Given the description of an element on the screen output the (x, y) to click on. 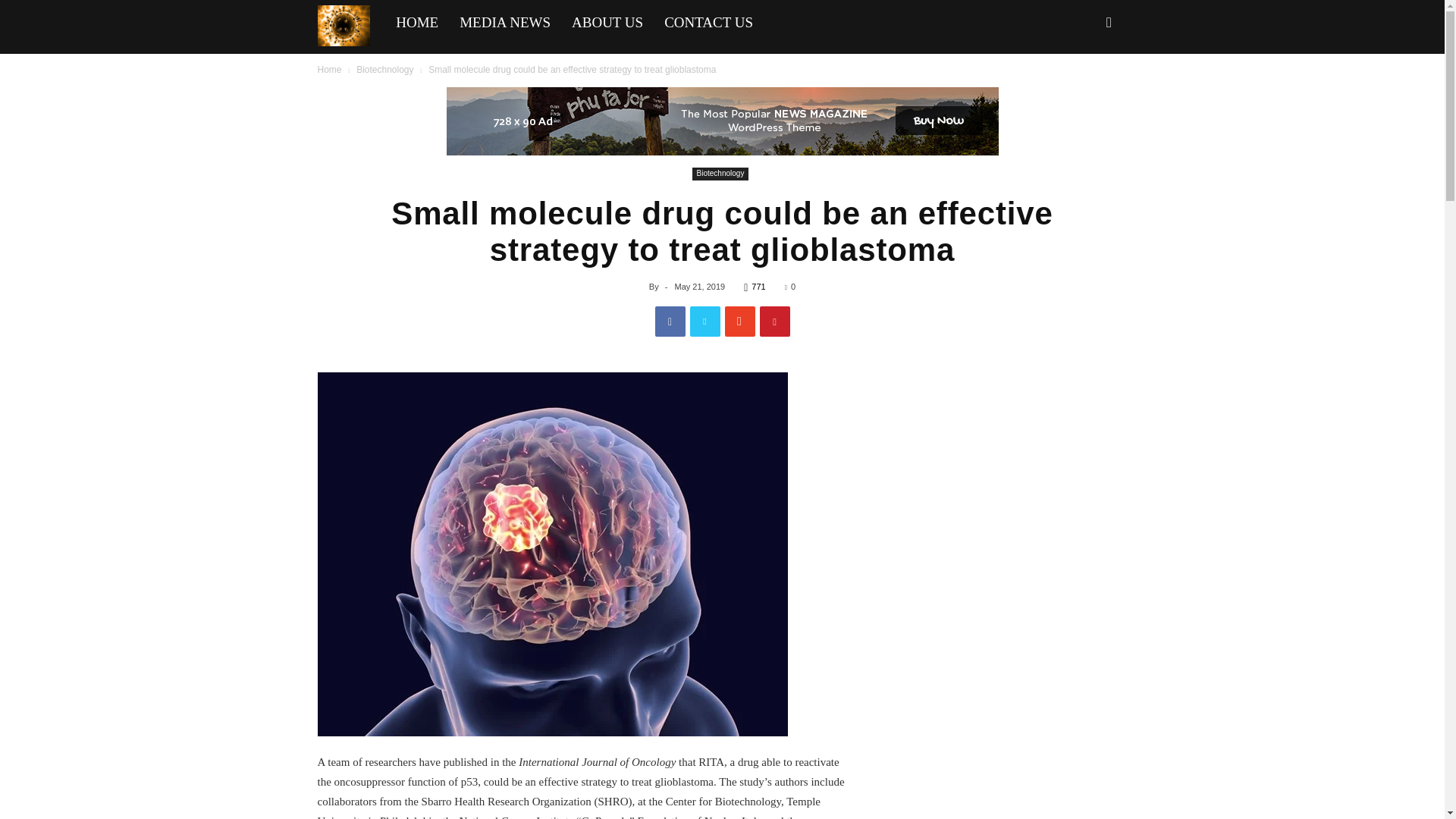
Biotechnology (384, 69)
Search (1085, 87)
Newspaper 6 - News Magazine theme for Wordpress (343, 25)
Home (328, 69)
CONTACT US (707, 22)
0 (789, 286)
Biotechnology (721, 173)
HOME (416, 22)
ABOUT US (606, 22)
American Biotech News (351, 24)
View all posts in Biotechnology (384, 69)
MEDIA NEWS (504, 22)
